Given the description of an element on the screen output the (x, y) to click on. 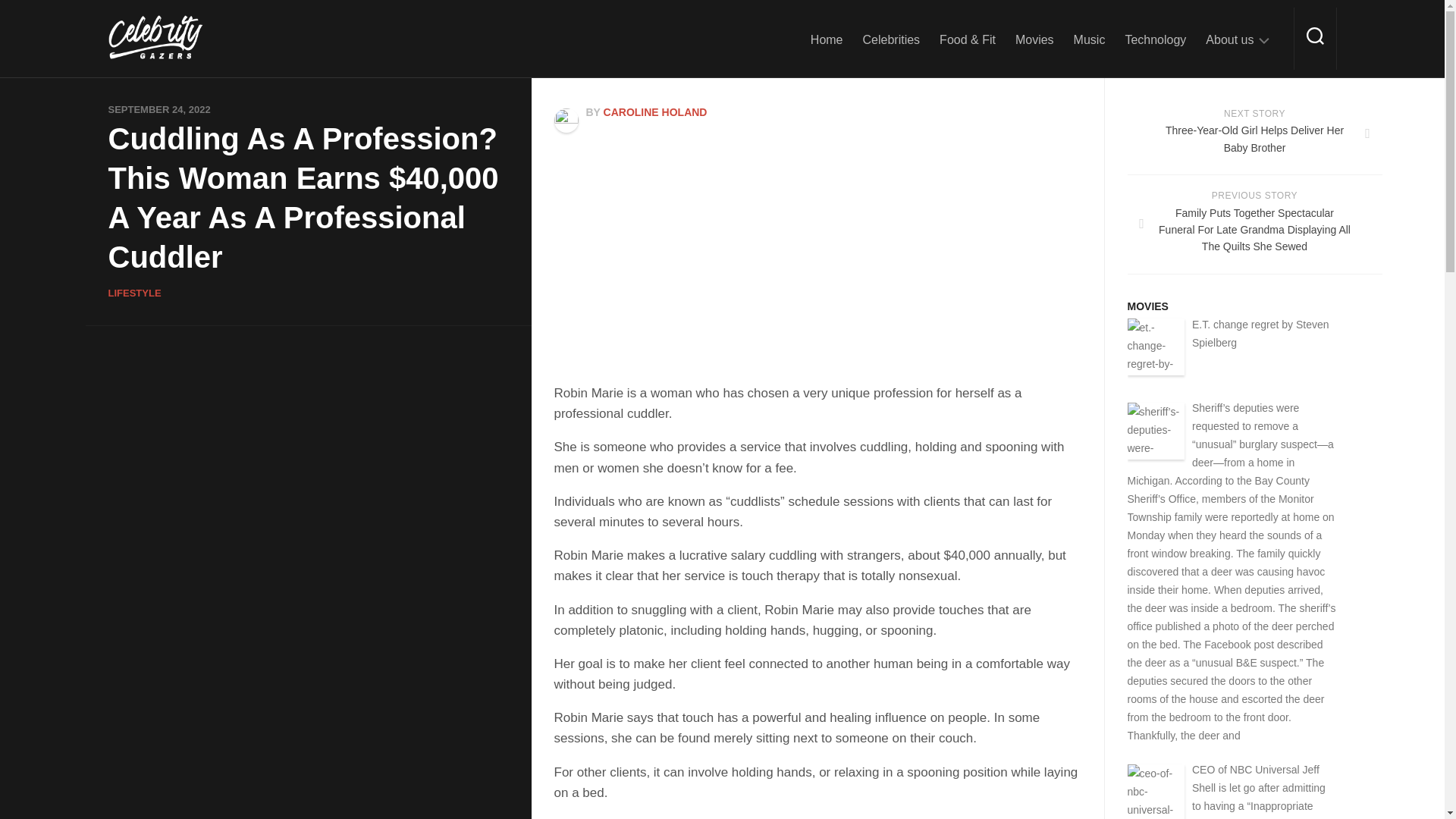
Movies (1034, 39)
E.T. change regret by Steven Spielberg (1260, 333)
CAROLINE HOLAND (655, 111)
About us (1229, 39)
Music (1089, 39)
Technology (1155, 39)
LIFESTYLE (133, 292)
Home (826, 39)
Celebrities (891, 39)
Posts by Caroline Holand (655, 111)
